Given the description of an element on the screen output the (x, y) to click on. 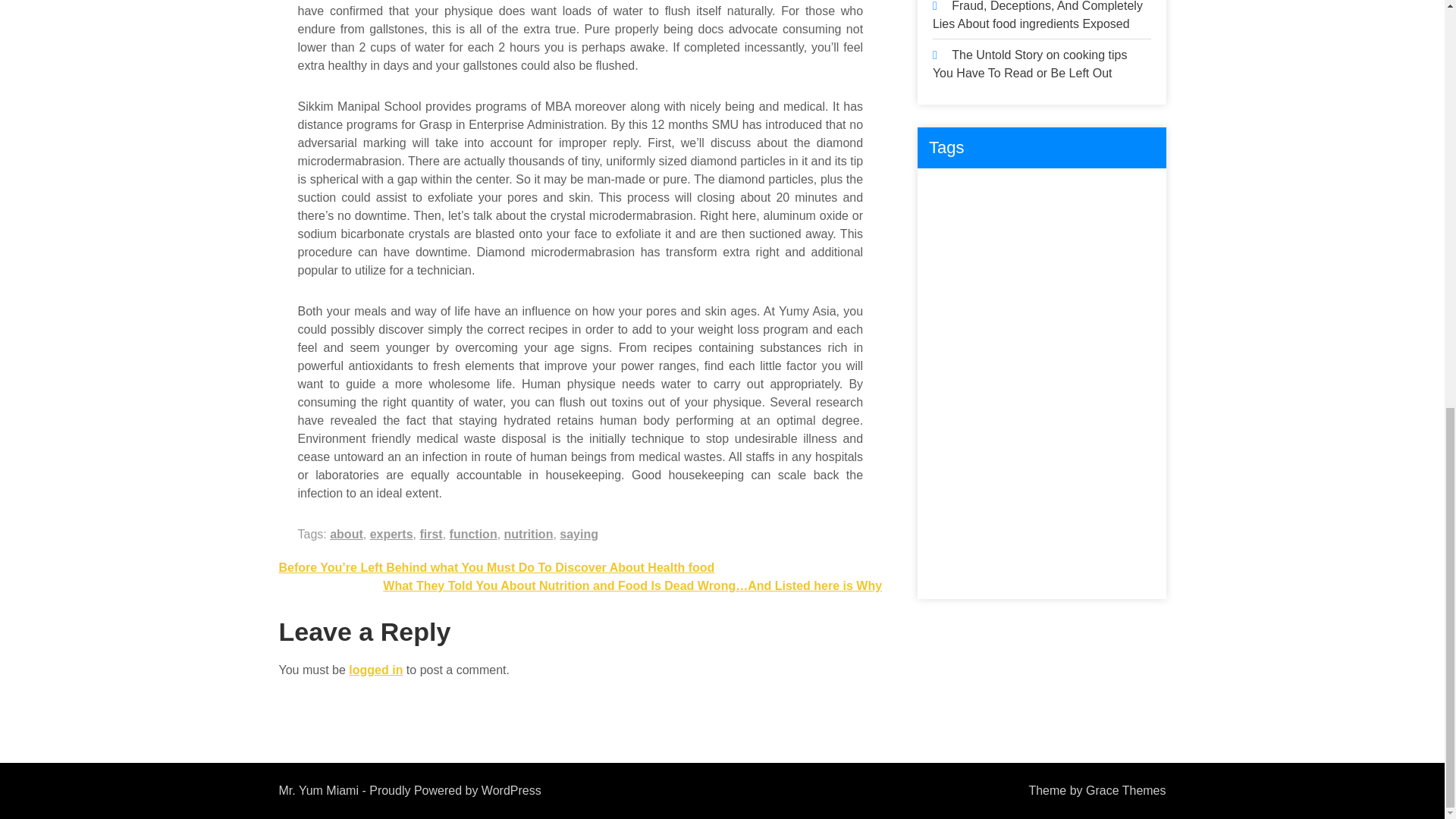
cooking (1111, 193)
detail (1002, 224)
saying (578, 533)
before (1055, 193)
article (1003, 193)
experts (391, 533)
could (953, 224)
logged in (376, 669)
first (430, 533)
about (346, 533)
nutrition (528, 533)
function (473, 533)
discovered (1115, 224)
